Given the description of an element on the screen output the (x, y) to click on. 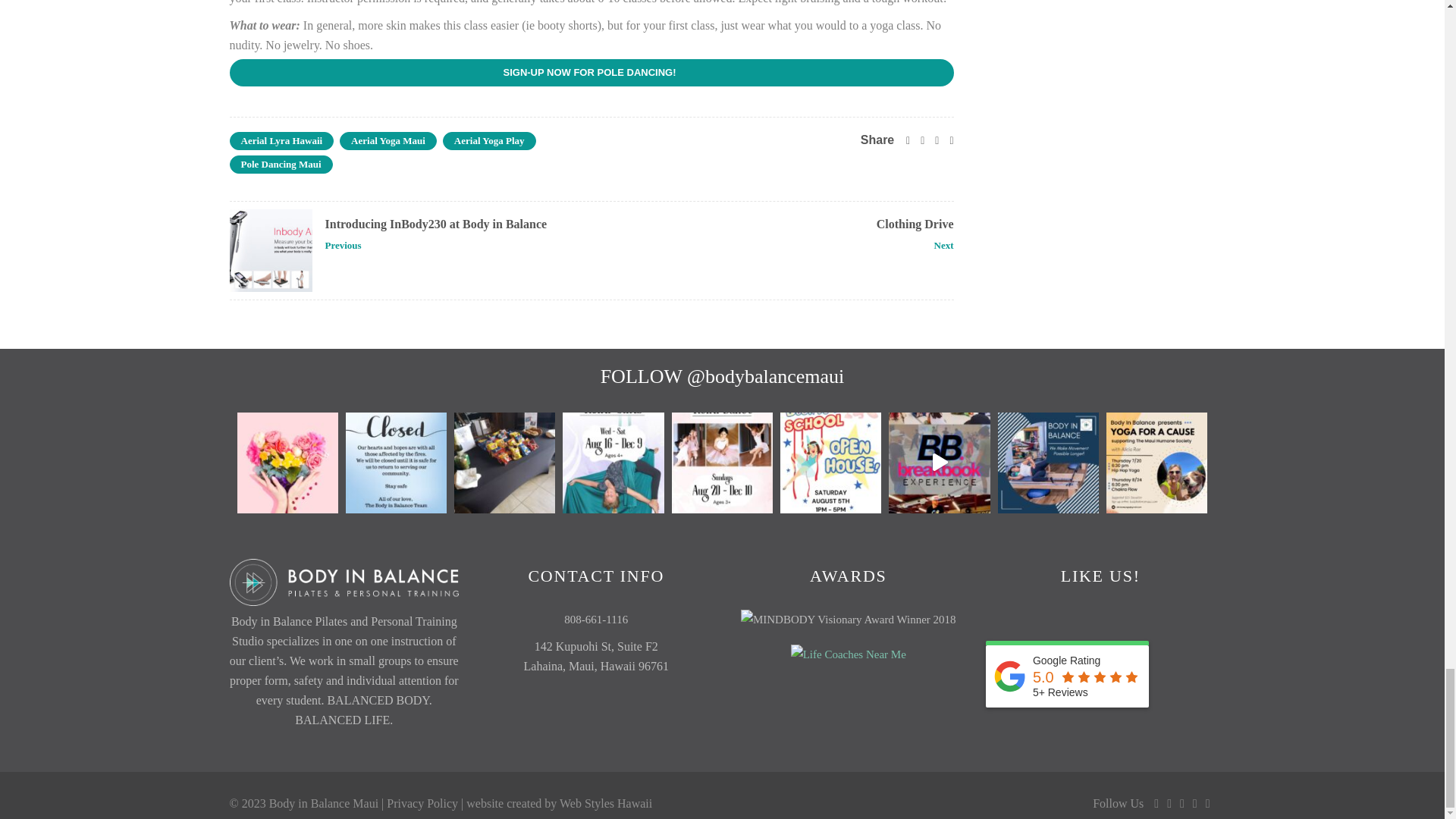
Life Coaches Near Me (847, 654)
Awards (848, 619)
